Given the description of an element on the screen output the (x, y) to click on. 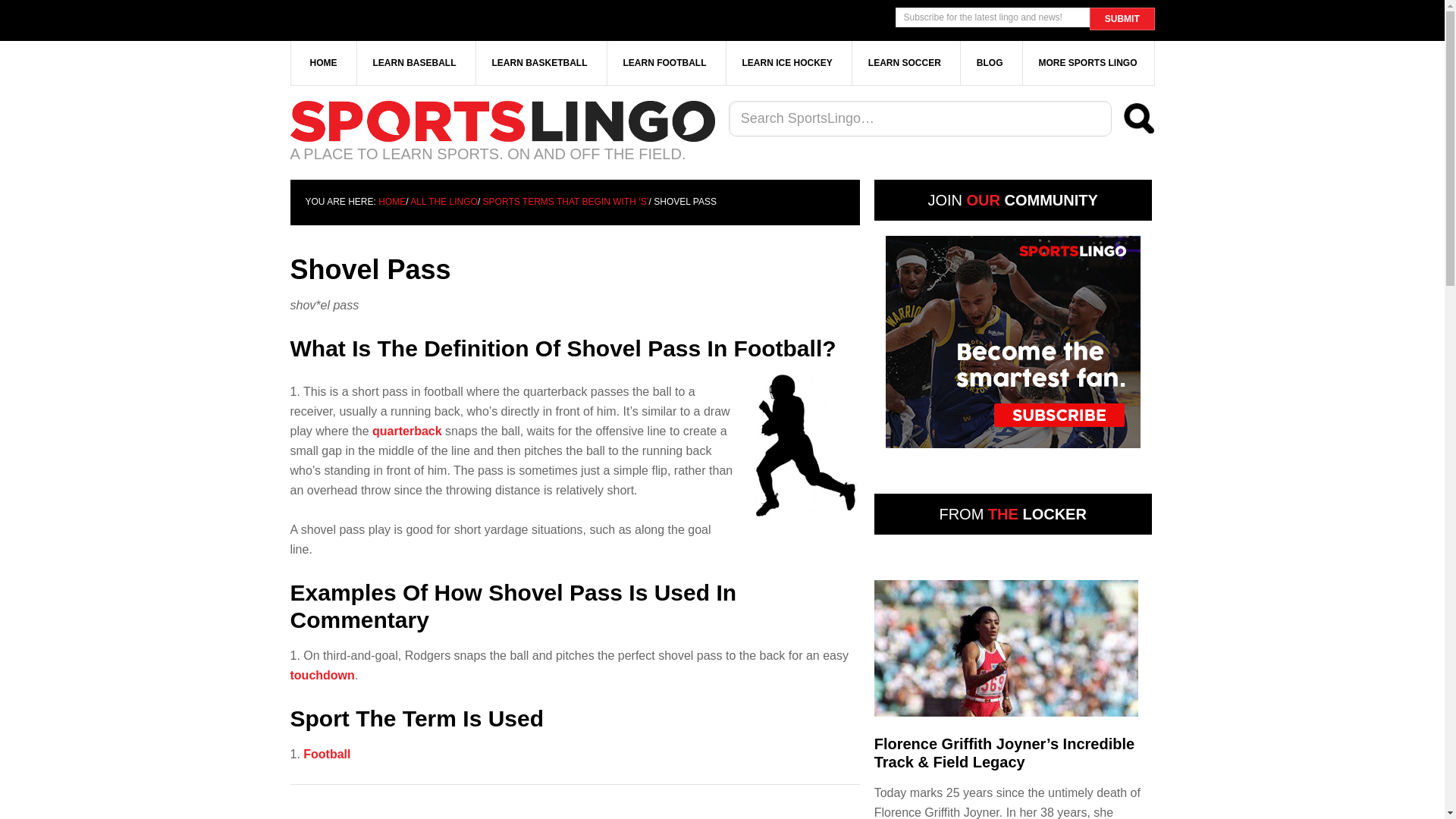
Submit (1121, 18)
LEARN BASKETBALL (540, 62)
LEARN ICE HOCKEY (787, 62)
LEARN SOCCER (904, 62)
HOME (323, 62)
Search (1139, 118)
Submit (1121, 18)
LEARN FOOTBALL (664, 62)
LEARN BASEBALL (414, 62)
BLOG (990, 62)
MORE SPORTS LINGO (1088, 62)
